Given the description of an element on the screen output the (x, y) to click on. 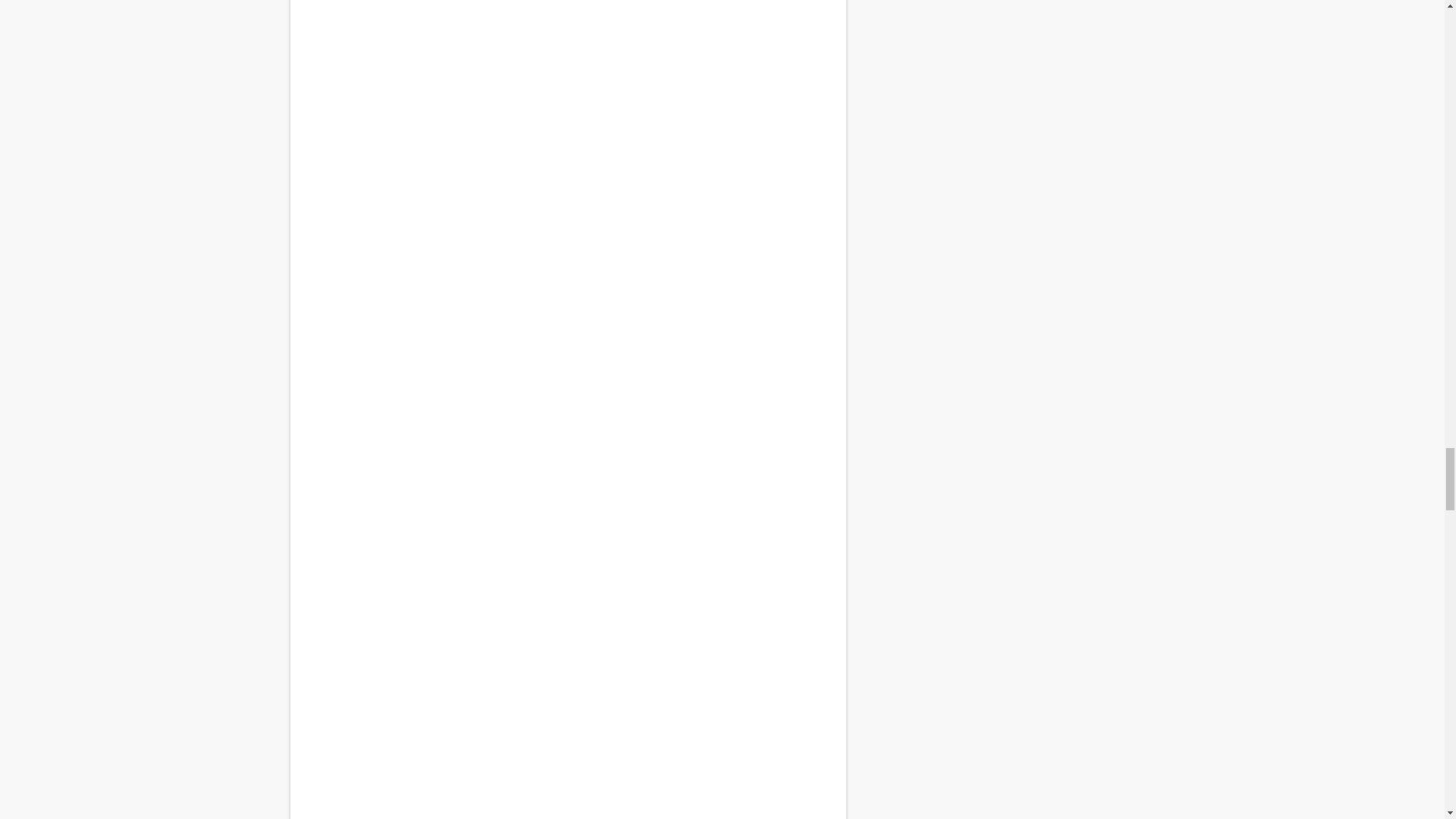
Words Everyday (567, 612)
